Given the description of an element on the screen output the (x, y) to click on. 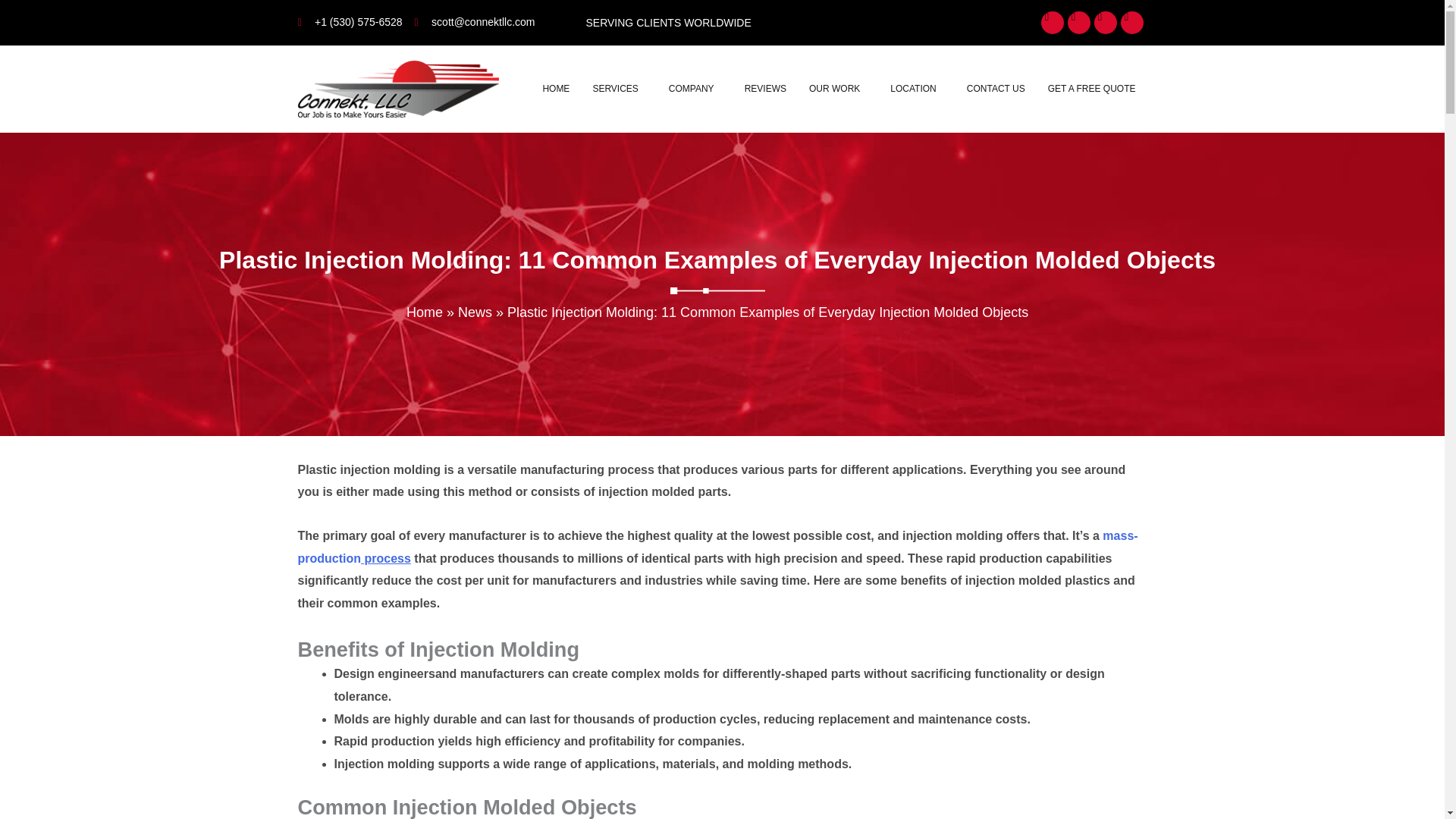
LOCATION (917, 88)
OUR WORK (838, 88)
COMPANY (695, 88)
REVIEWS (765, 88)
HOME (555, 88)
SERVICES (618, 88)
